Given the description of an element on the screen output the (x, y) to click on. 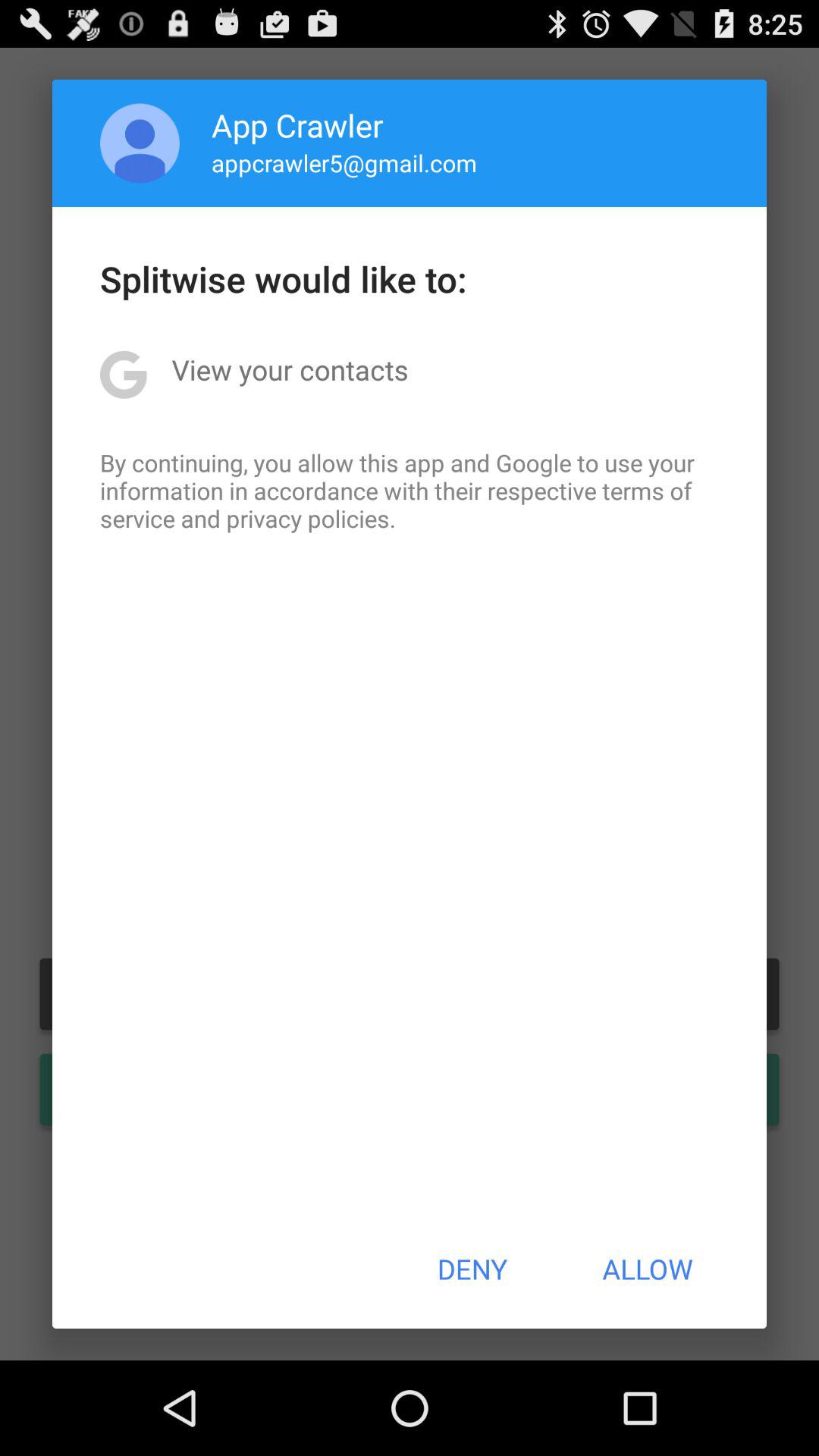
open app next to app crawler app (139, 143)
